Given the description of an element on the screen output the (x, y) to click on. 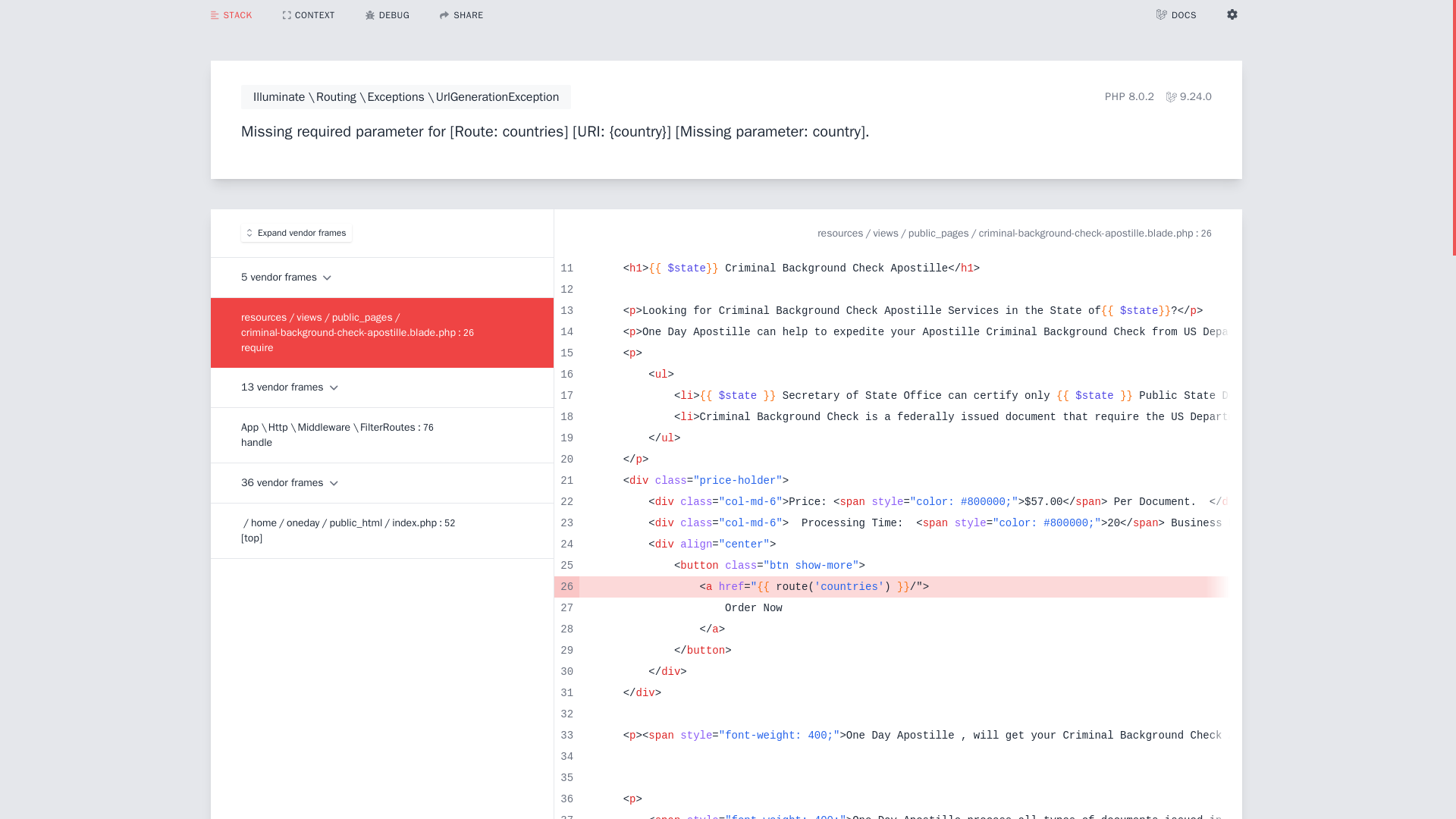
Expand vendor frames (296, 232)
SHARE (461, 15)
STACK (231, 14)
SHARE (461, 14)
DEBUG (387, 15)
CONTEXT (308, 14)
DOCS (1176, 14)
DOCS (1176, 15)
DEBUG (387, 14)
CONTEXT (308, 15)
STACK (231, 15)
